Given the description of an element on the screen output the (x, y) to click on. 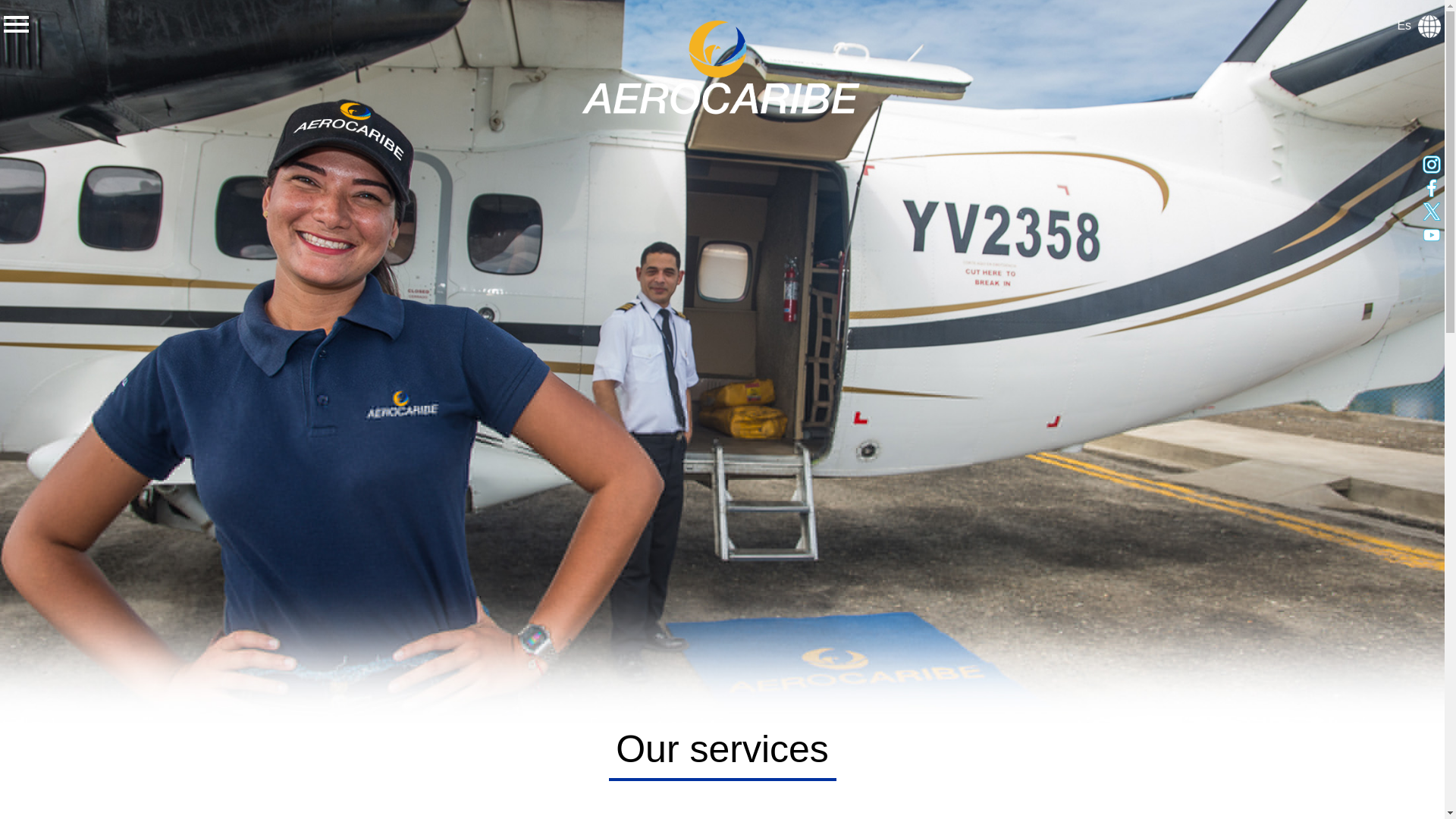
Es   (1418, 24)
YouTube (1431, 235)
Instagram (1431, 164)
Twitter (1431, 211)
Facebook (1431, 188)
